Given the description of an element on the screen output the (x, y) to click on. 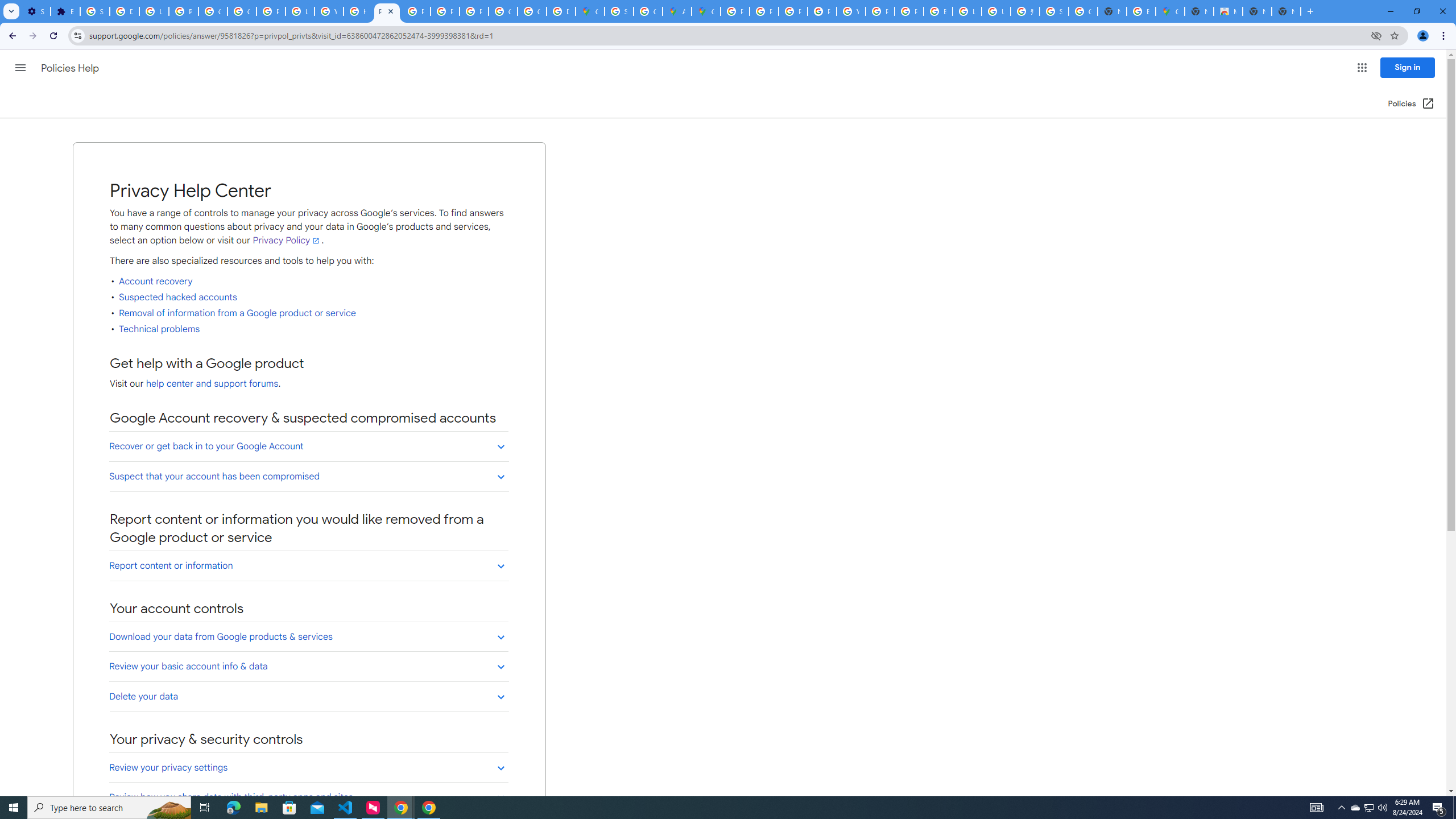
help center and support forums (211, 383)
Technical problems (159, 328)
Recover or get back in to your Google Account (308, 445)
Settings - On startup (35, 11)
Main menu (20, 67)
Google Maps (590, 11)
Review your basic account info & data (308, 666)
Google Maps (705, 11)
